Given the description of an element on the screen output the (x, y) to click on. 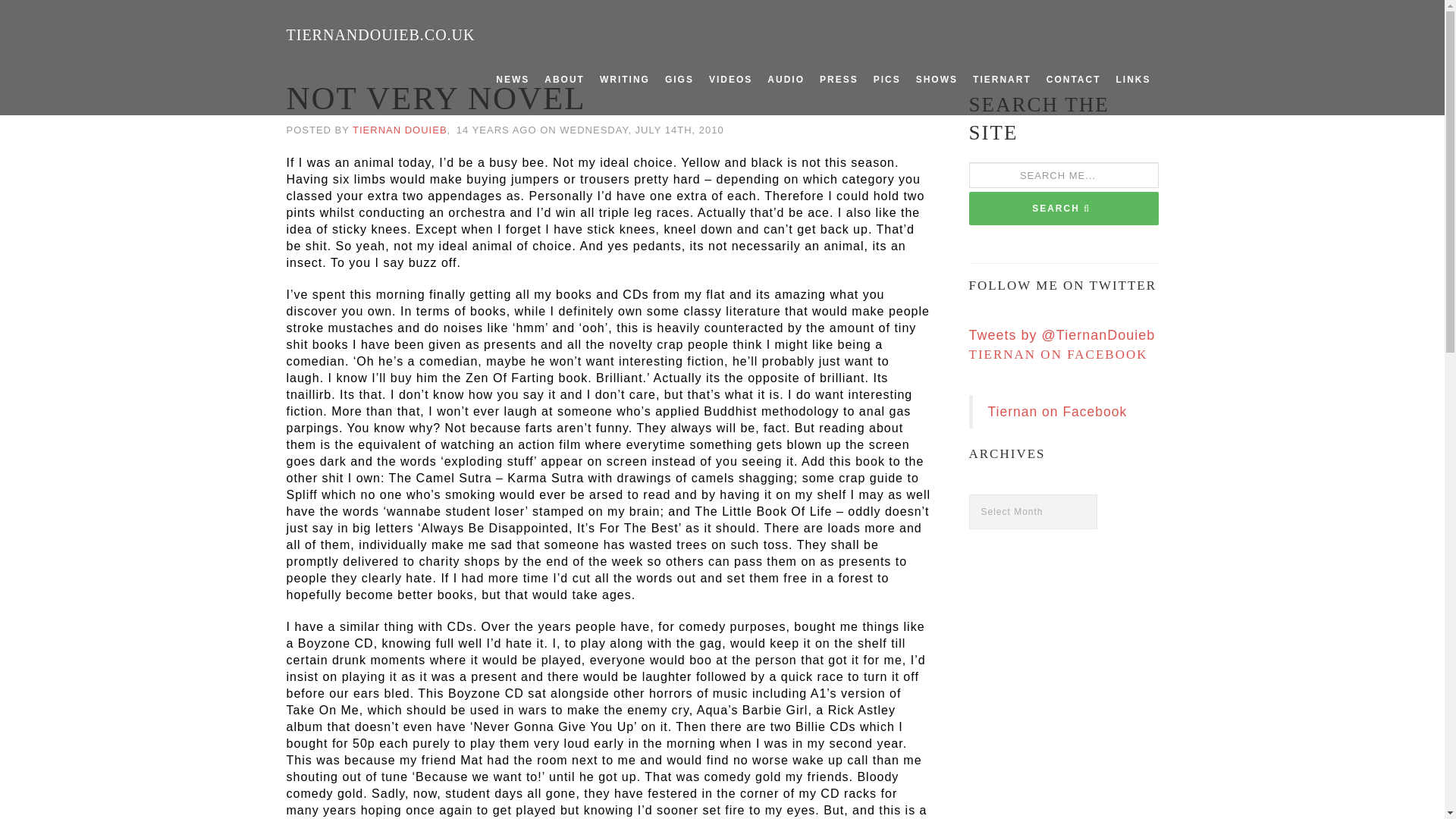
TIERNAN DOUIEB (399, 129)
WRITING (625, 79)
TIERNANDOUIEB.CO.UK (381, 34)
TIERNART (1002, 79)
CONTACT (1073, 79)
TIERNAN ON FACEBOOK (1058, 354)
SEARCH (1063, 208)
Tiernan on Facebook (1056, 411)
